Given the description of an element on the screen output the (x, y) to click on. 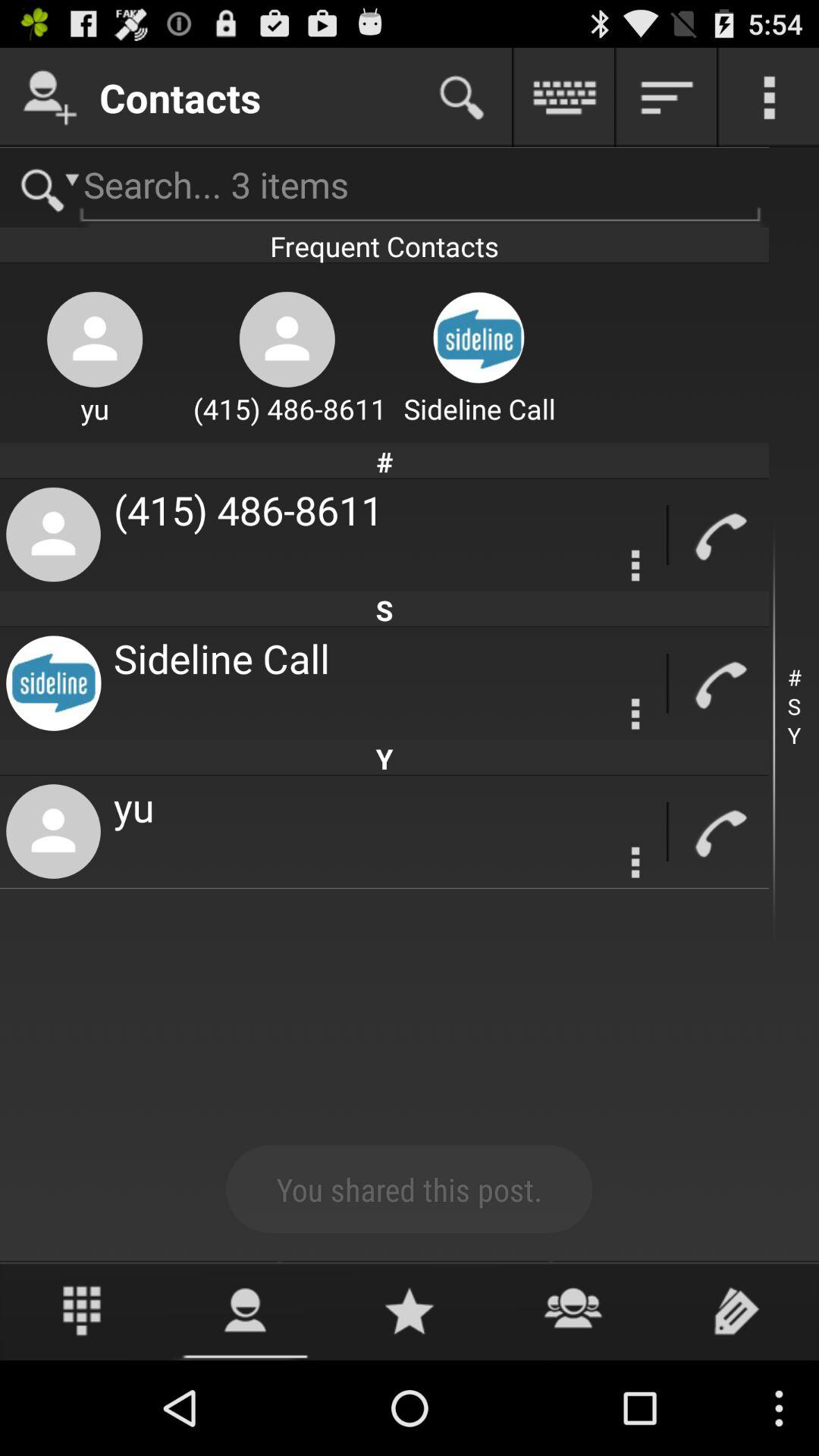
to bring up numeral buttons like a phone (81, 1310)
